Given the description of an element on the screen output the (x, y) to click on. 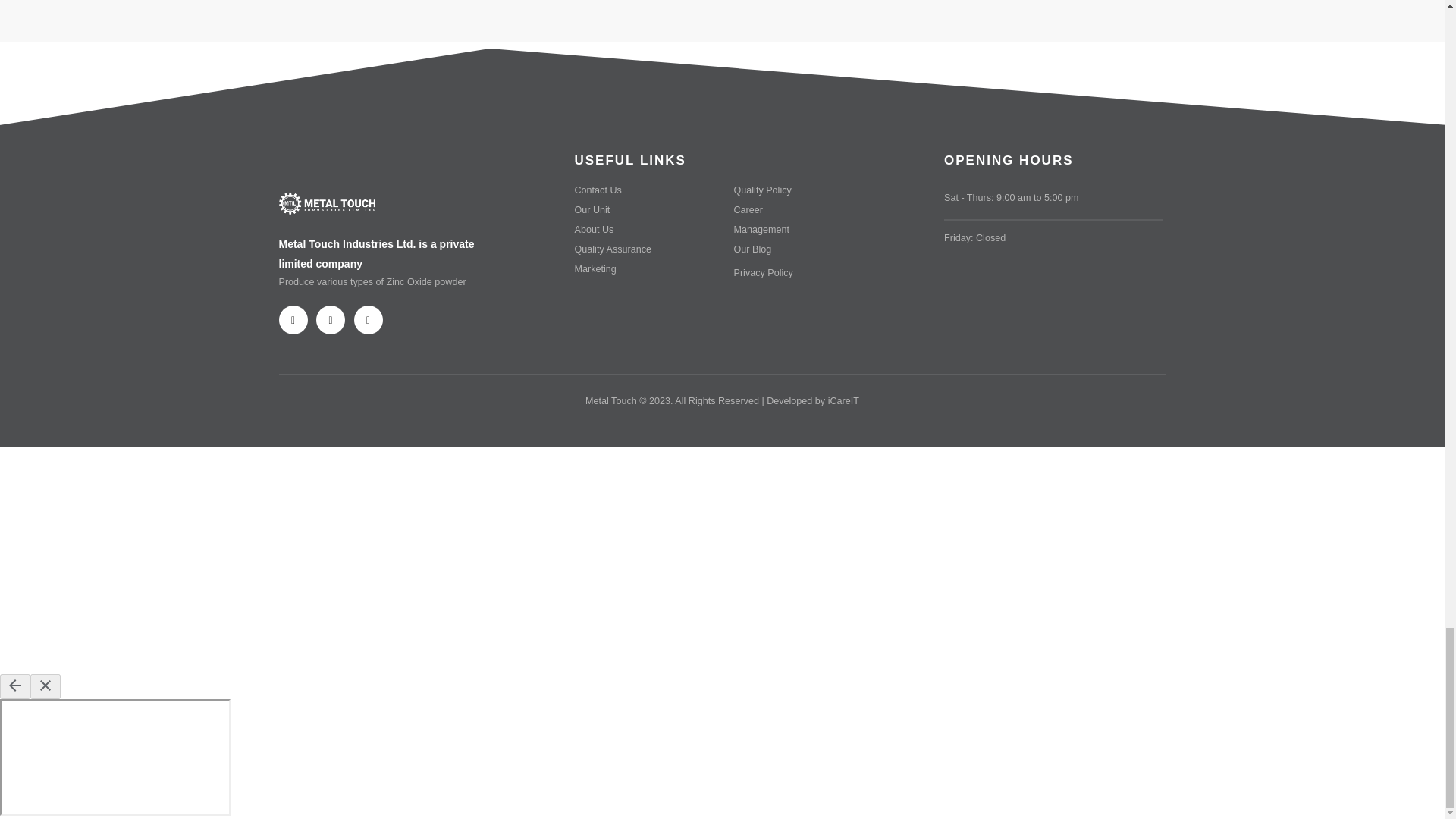
Facebook (293, 319)
Instagram (367, 319)
Twitter (330, 319)
